Given the description of an element on the screen output the (x, y) to click on. 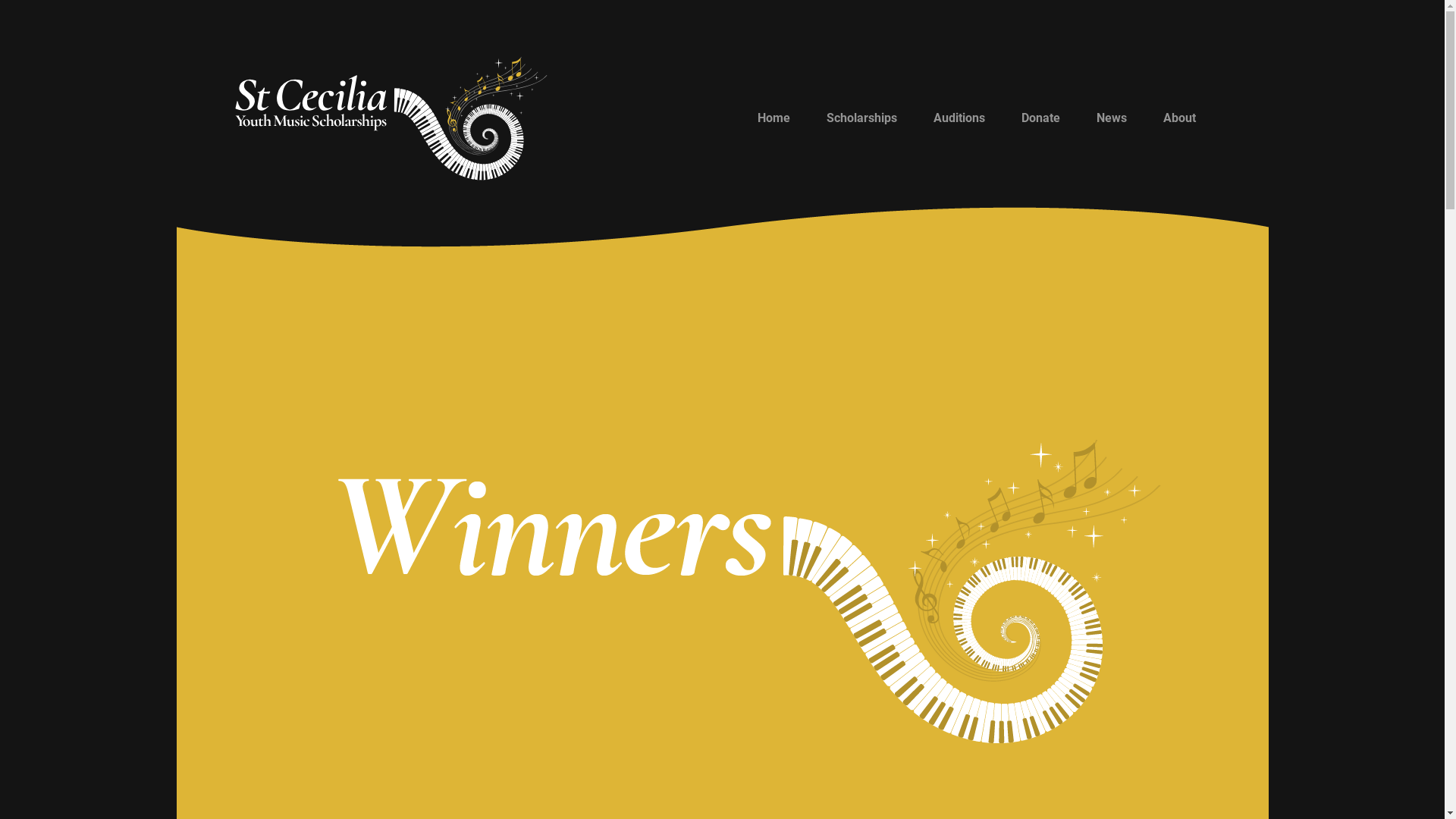
News Element type: text (1111, 118)
Home Element type: text (772, 118)
Donate Element type: text (1039, 118)
Scholarships Element type: text (861, 118)
About Element type: text (1179, 118)
Auditions Element type: text (958, 118)
